Given the description of an element on the screen output the (x, y) to click on. 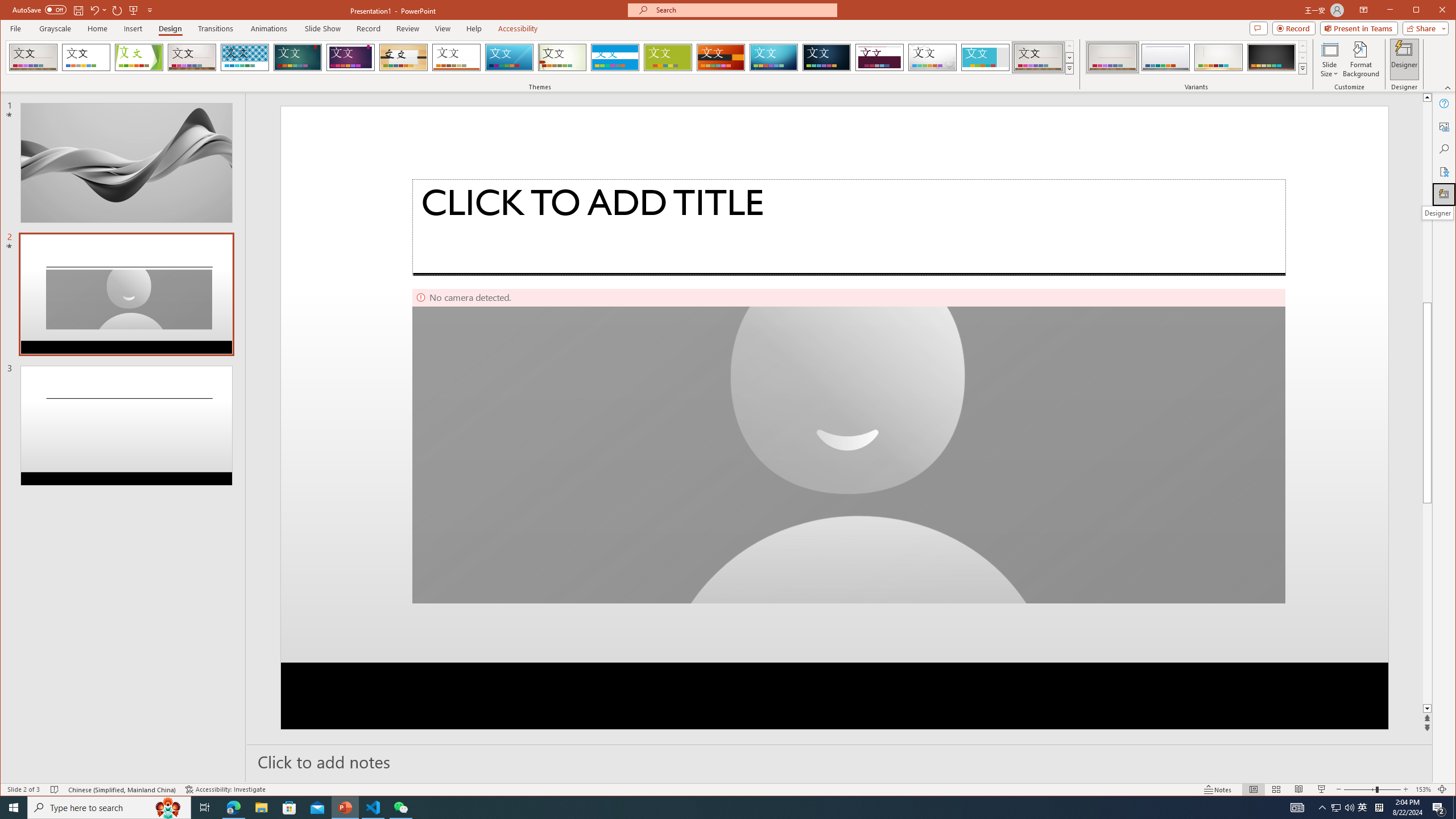
Alt Text (1444, 125)
Wisp (561, 57)
Damask (826, 57)
